Given the description of an element on the screen output the (x, y) to click on. 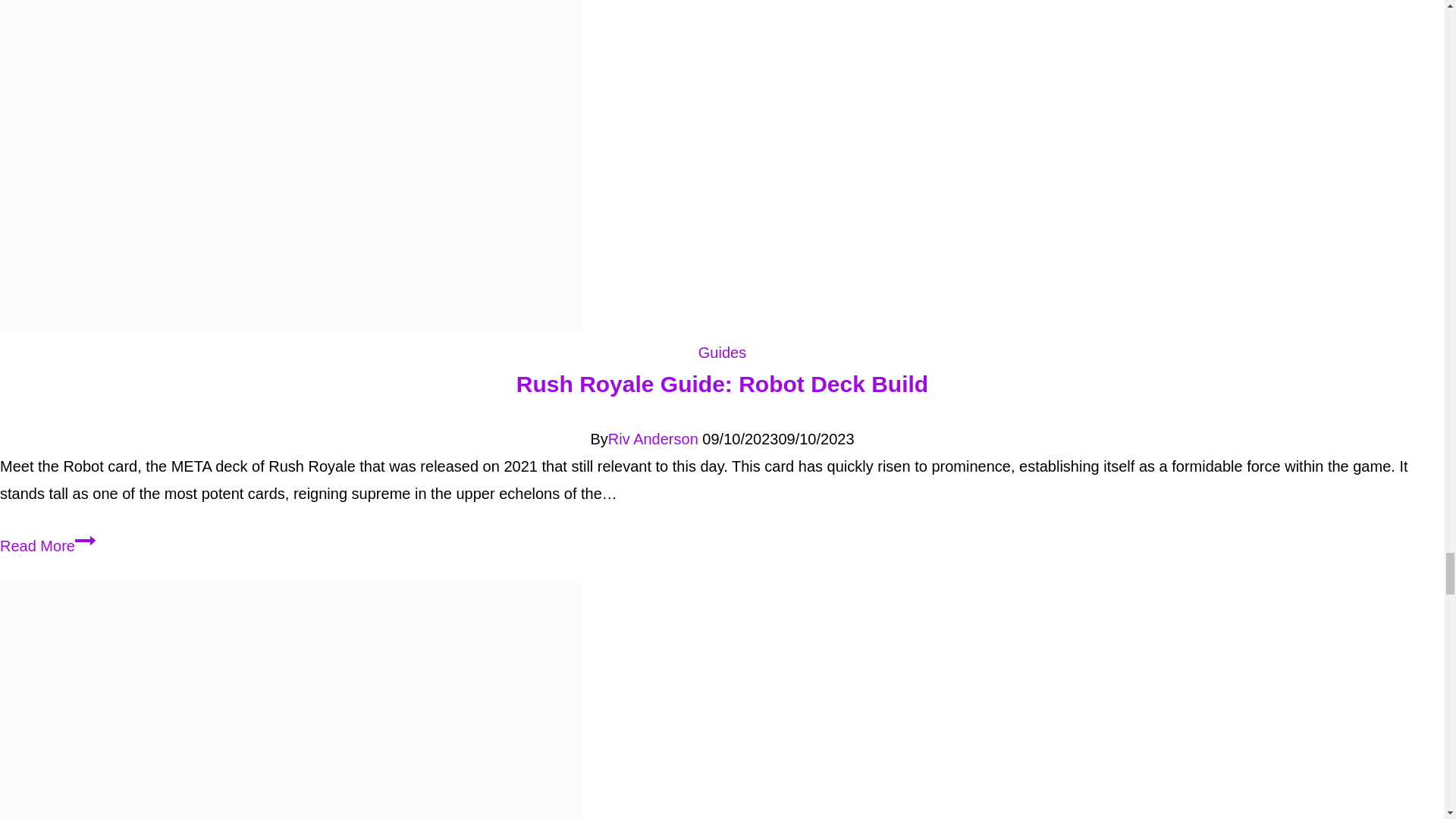
Guides (721, 352)
Continue (48, 545)
Riv Anderson (85, 540)
Rush Royale Guide: Robot Deck Build (653, 438)
